Given the description of an element on the screen output the (x, y) to click on. 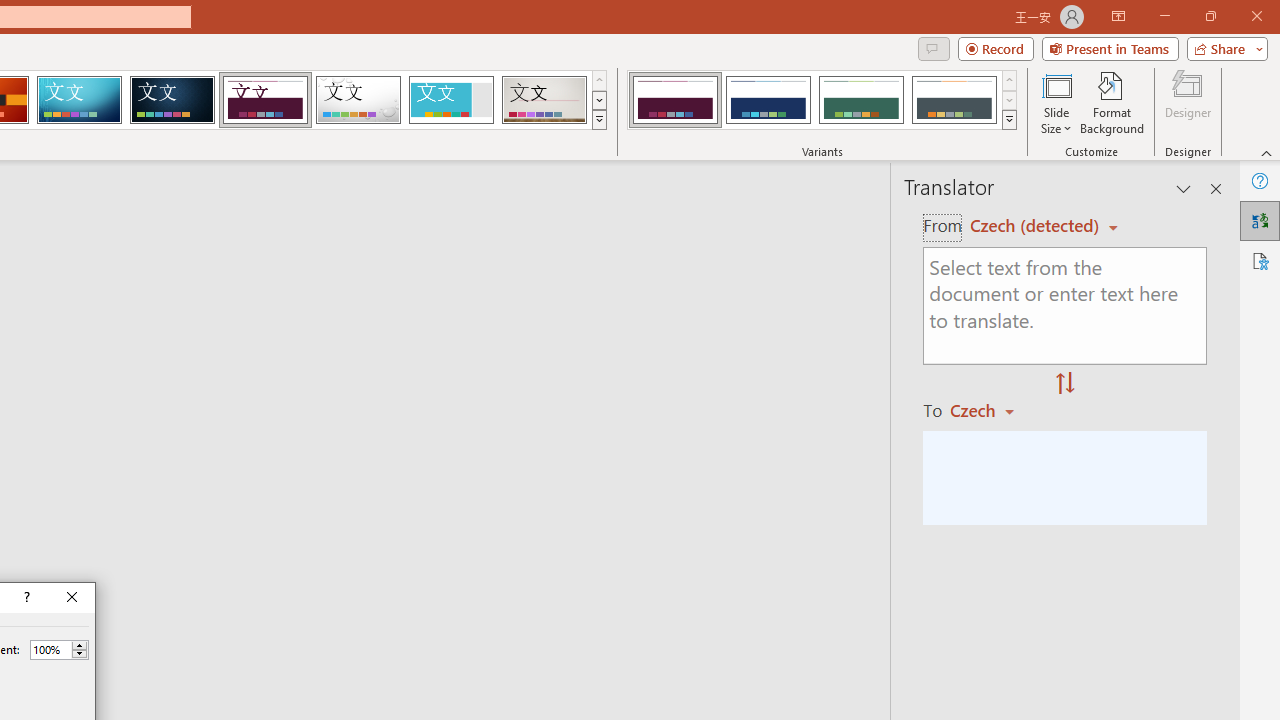
Droplet (358, 100)
Row Down (1009, 100)
Row up (1009, 79)
Slide Size (1056, 102)
Ribbon Display Options (1118, 16)
Variants (1009, 120)
Dividend Variant 4 (953, 100)
Restore Down (1210, 16)
Class: NetUIImage (1009, 119)
Dividend Variant 2 (768, 100)
Comments (933, 48)
Close pane (1215, 188)
Less (79, 654)
